Given the description of an element on the screen output the (x, y) to click on. 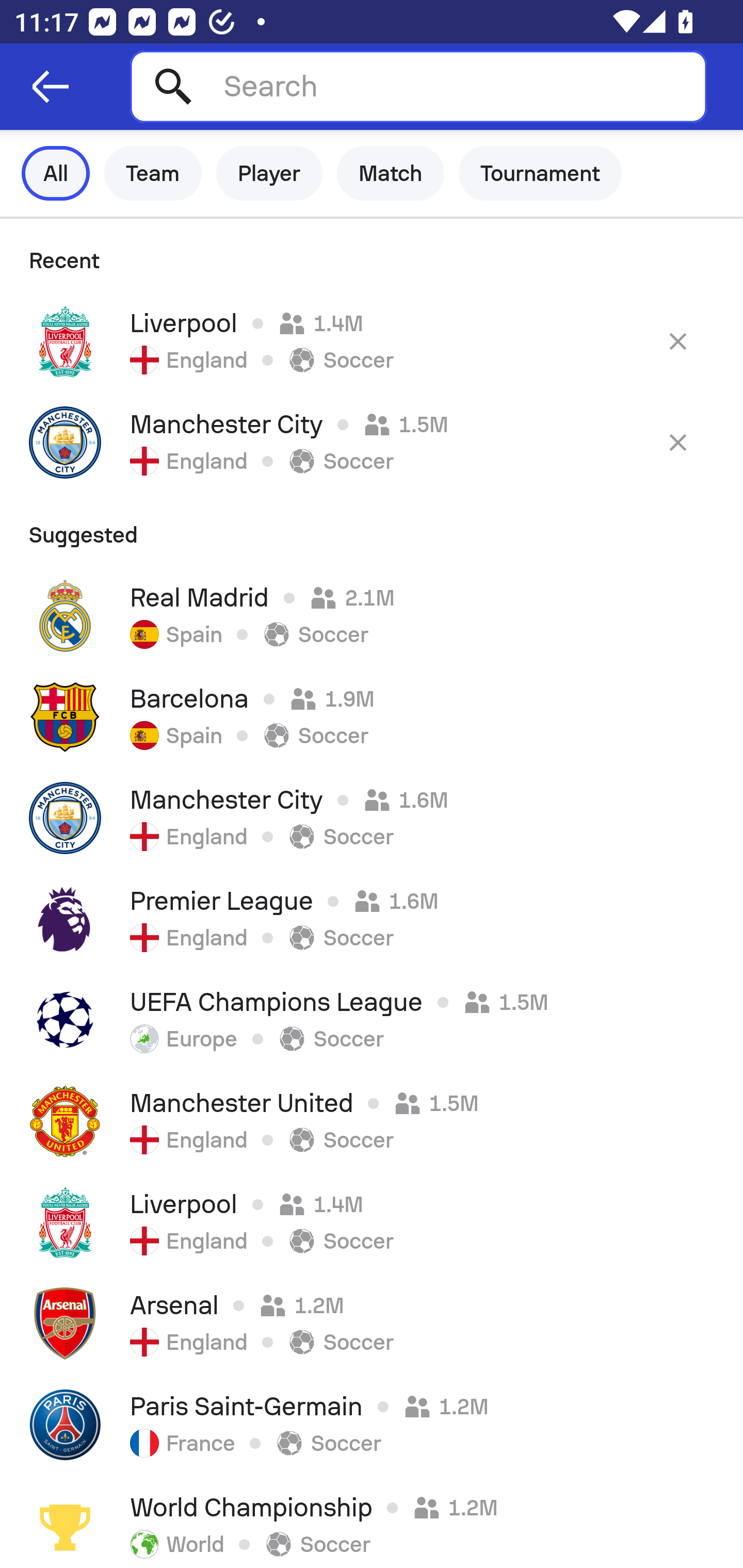
Navigate up (50, 86)
Search (418, 86)
All (55, 172)
Team (152, 172)
Player (268, 172)
Match (390, 172)
Tournament (540, 172)
Recent (371, 254)
Liverpool 1.4M England Soccer (371, 341)
Manchester City 1.5M England Soccer (371, 442)
Suggested (371, 529)
Real Madrid 2.1M Spain Soccer (371, 616)
Barcelona 1.9M Spain Soccer (371, 716)
Manchester City 1.6M England Soccer (371, 817)
Premier League 1.6M England Soccer (371, 918)
UEFA Champions League 1.5M Europe Soccer (371, 1019)
Manchester United 1.5M England Soccer (371, 1120)
Liverpool 1.4M England Soccer (371, 1222)
Arsenal 1.2M England Soccer (371, 1323)
Paris Saint-Germain 1.2M France Soccer (371, 1424)
World Championship 1.2M World Soccer (371, 1521)
